Given the description of an element on the screen output the (x, y) to click on. 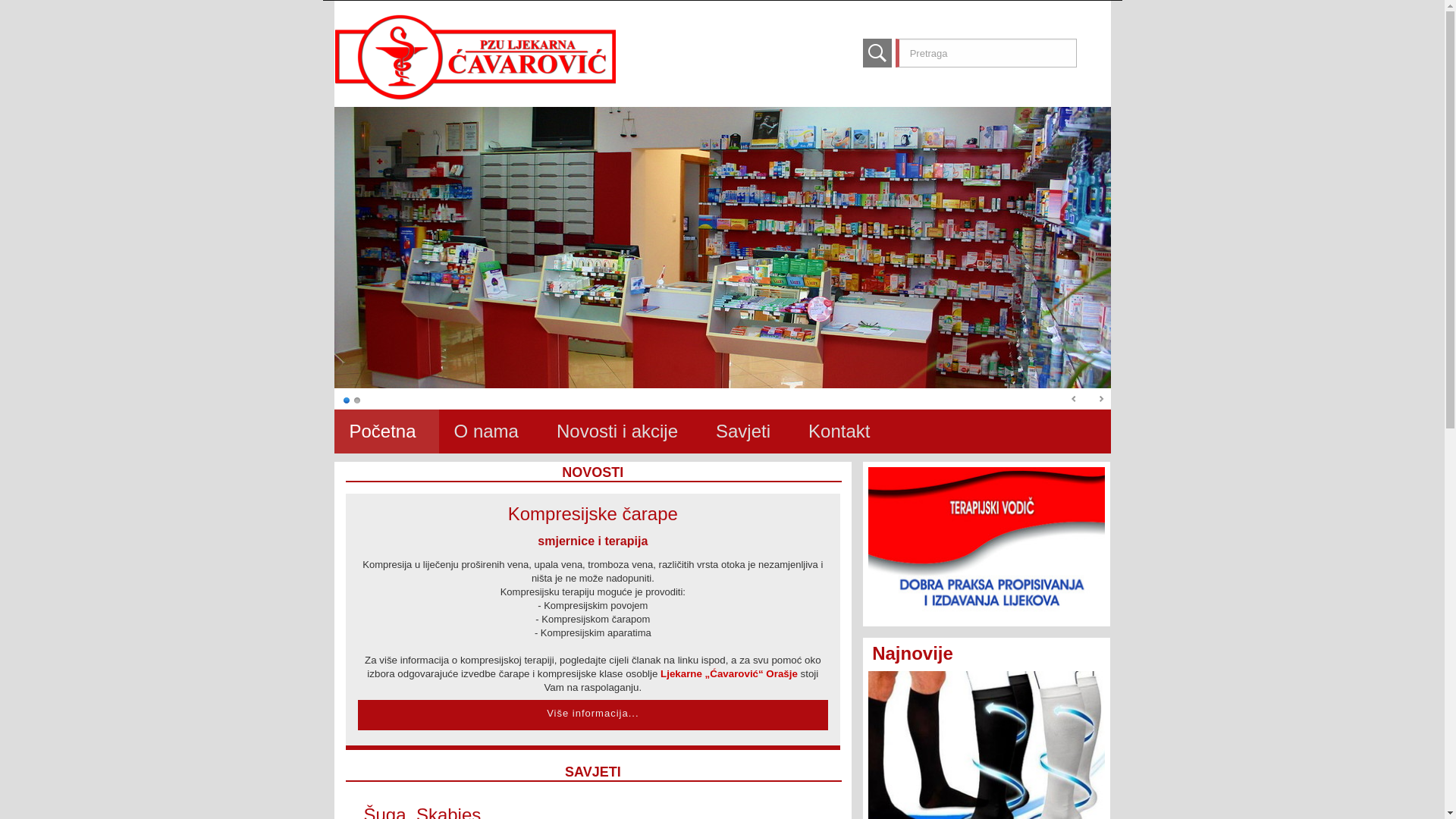
Savjeti Element type: text (743, 431)
Kontakt Element type: text (838, 431)
1 Element type: text (346, 399)
2 Element type: text (356, 399)
Novosti i akcije Element type: text (617, 431)
O nama Element type: text (486, 431)
